Given the description of an element on the screen output the (x, y) to click on. 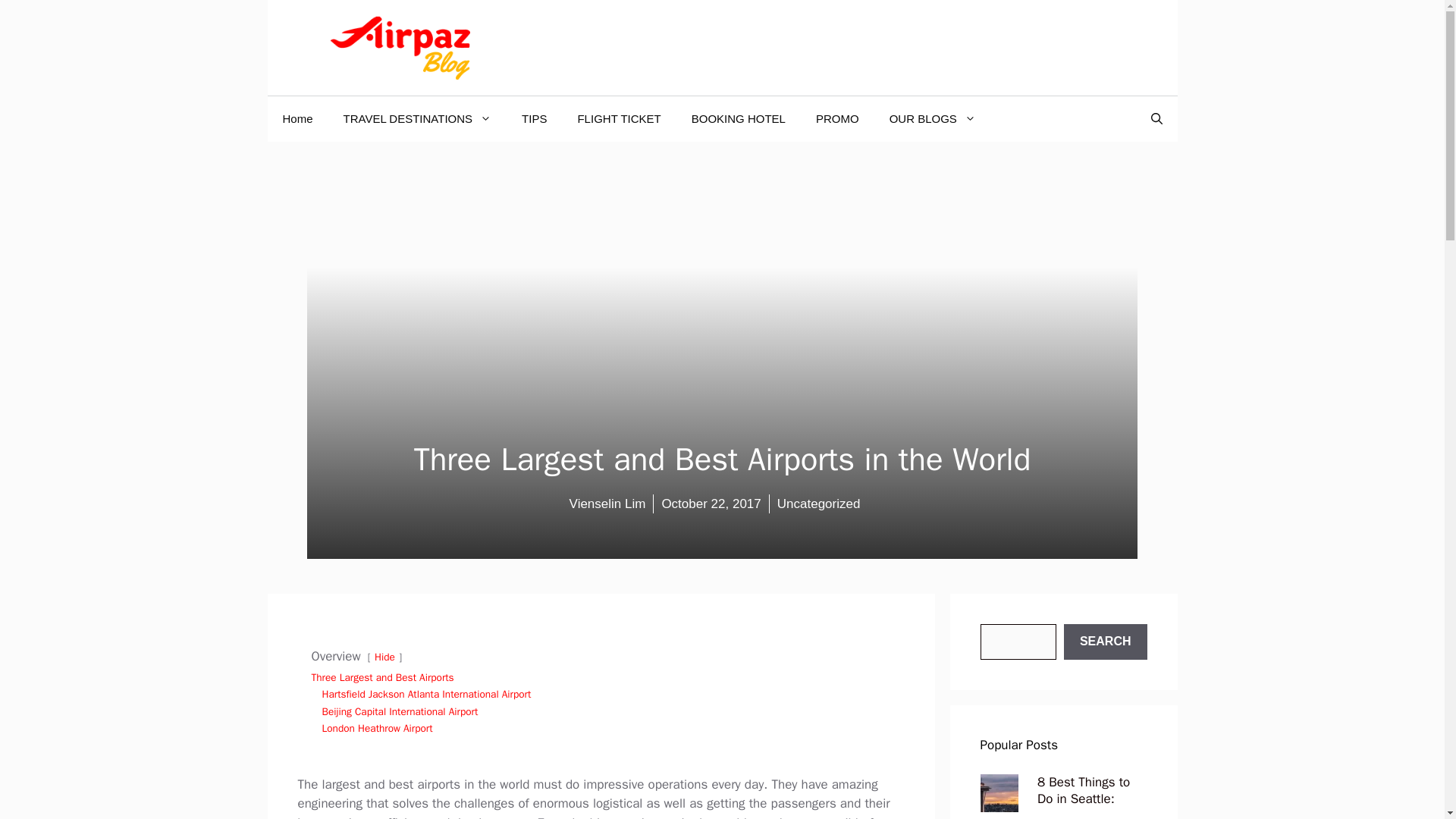
Home (296, 118)
TRAVEL DESTINATIONS (417, 118)
8 Best Things to Do in Seattle: Discover Blissful Escapades (998, 802)
FLIGHT TICKET (618, 118)
TIPS (534, 118)
